Given the description of an element on the screen output the (x, y) to click on. 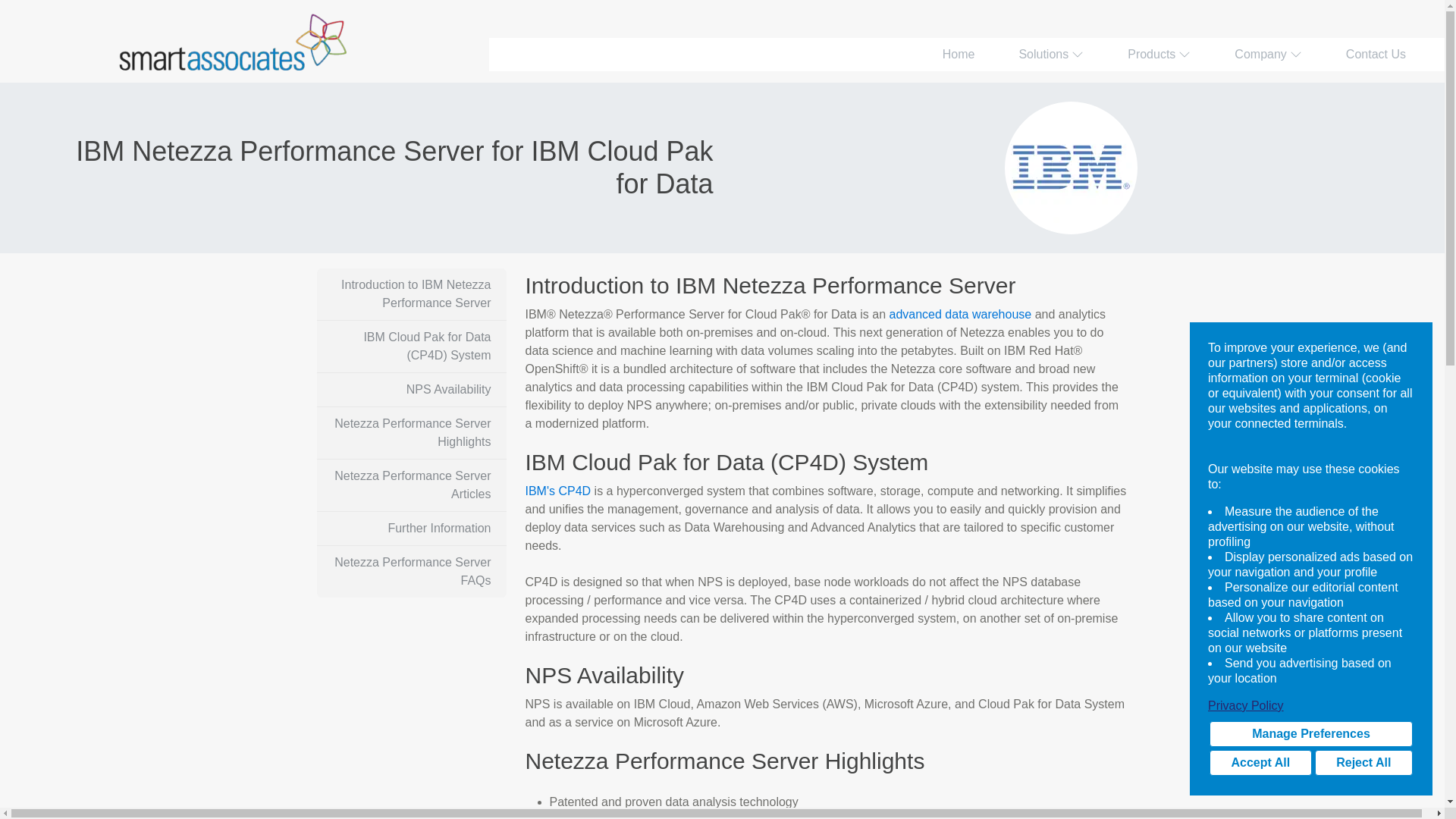
Manage Preferences (1310, 733)
Accept All (1260, 762)
Privacy Policy (1310, 705)
Solutions (1051, 54)
Home (958, 54)
Reject All (1363, 762)
